Given the description of an element on the screen output the (x, y) to click on. 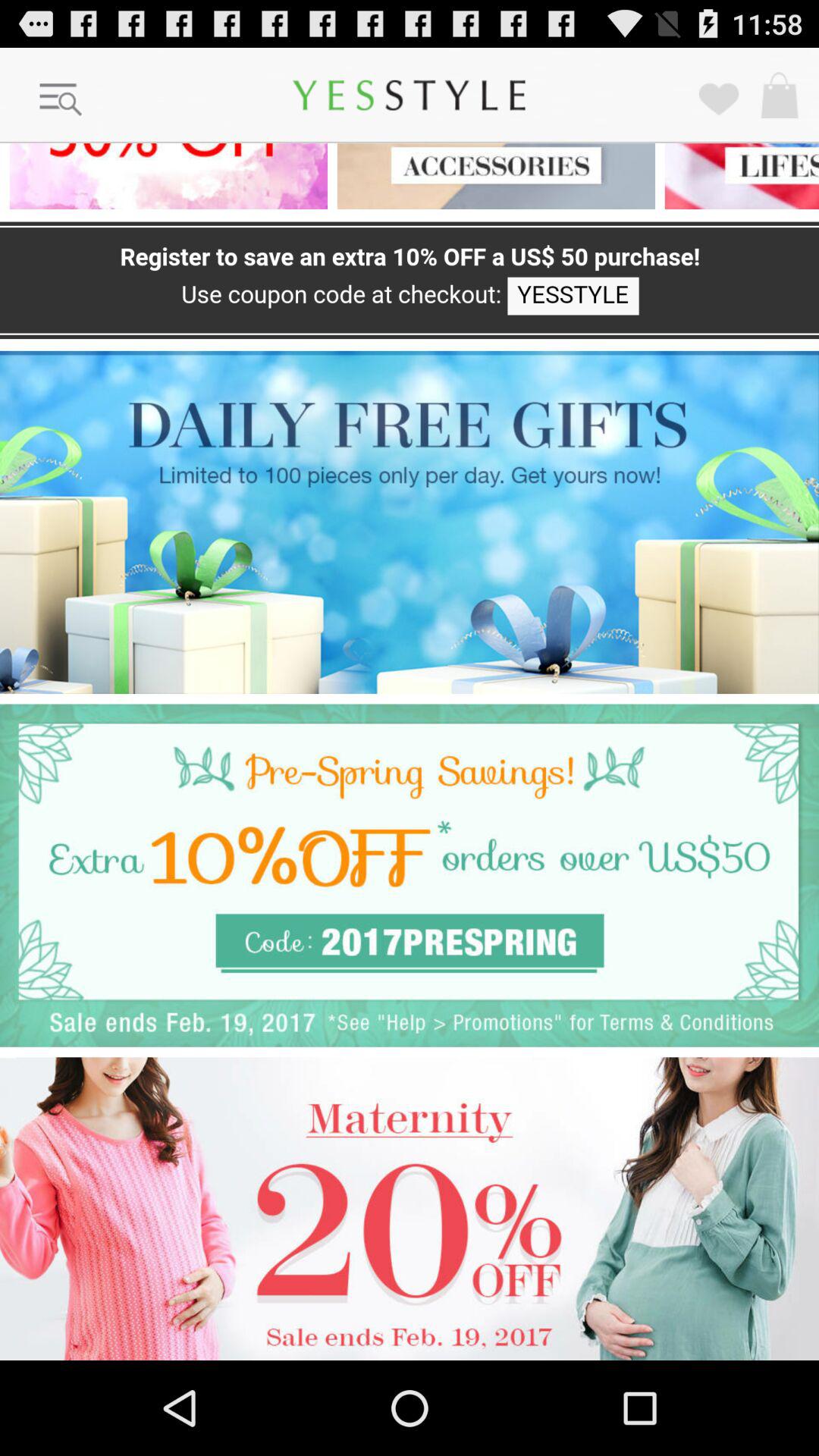
more option button (61, 100)
